Given the description of an element on the screen output the (x, y) to click on. 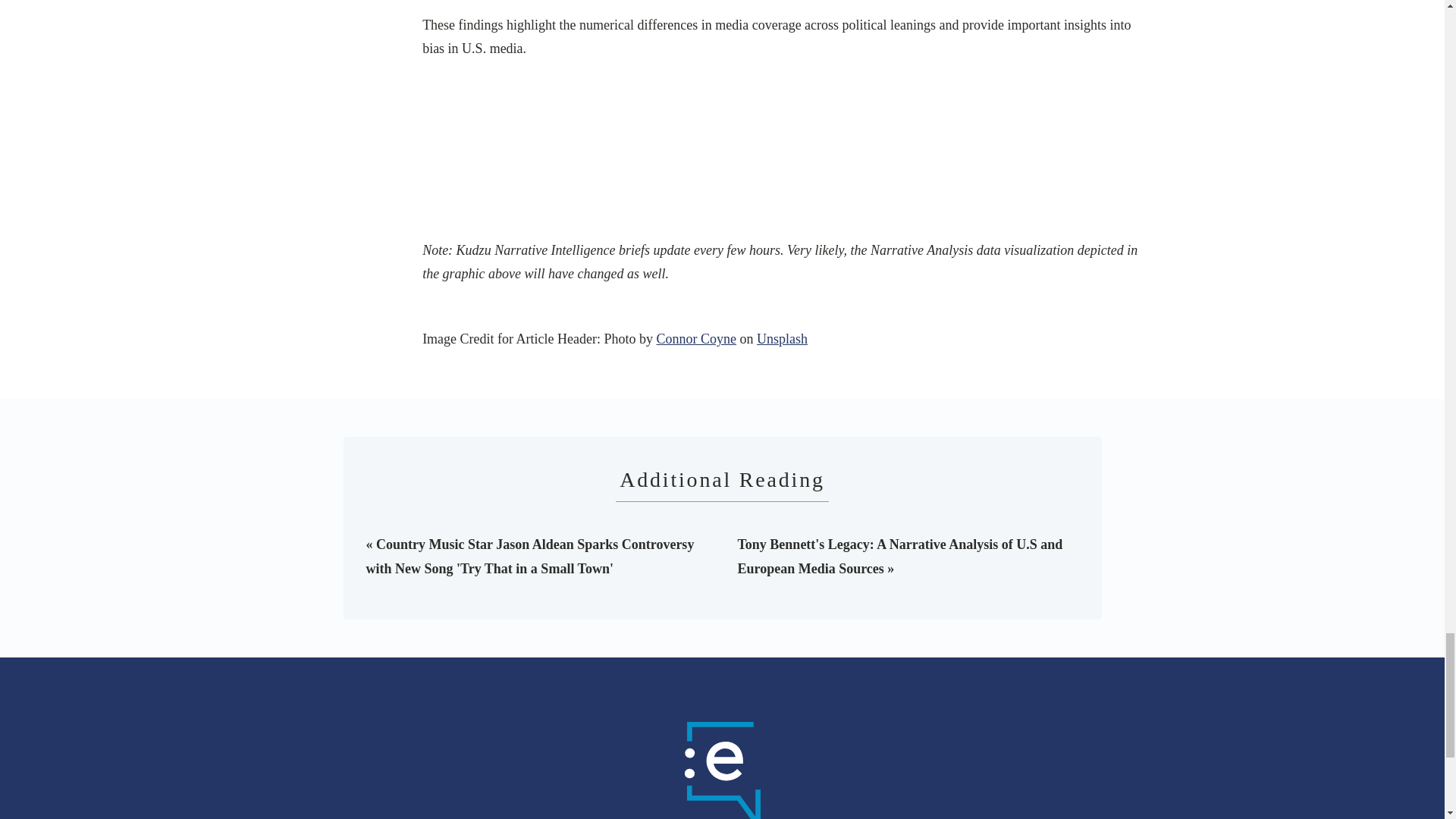
Unsplash (782, 338)
Connor Coyne (696, 338)
